Given the description of an element on the screen output the (x, y) to click on. 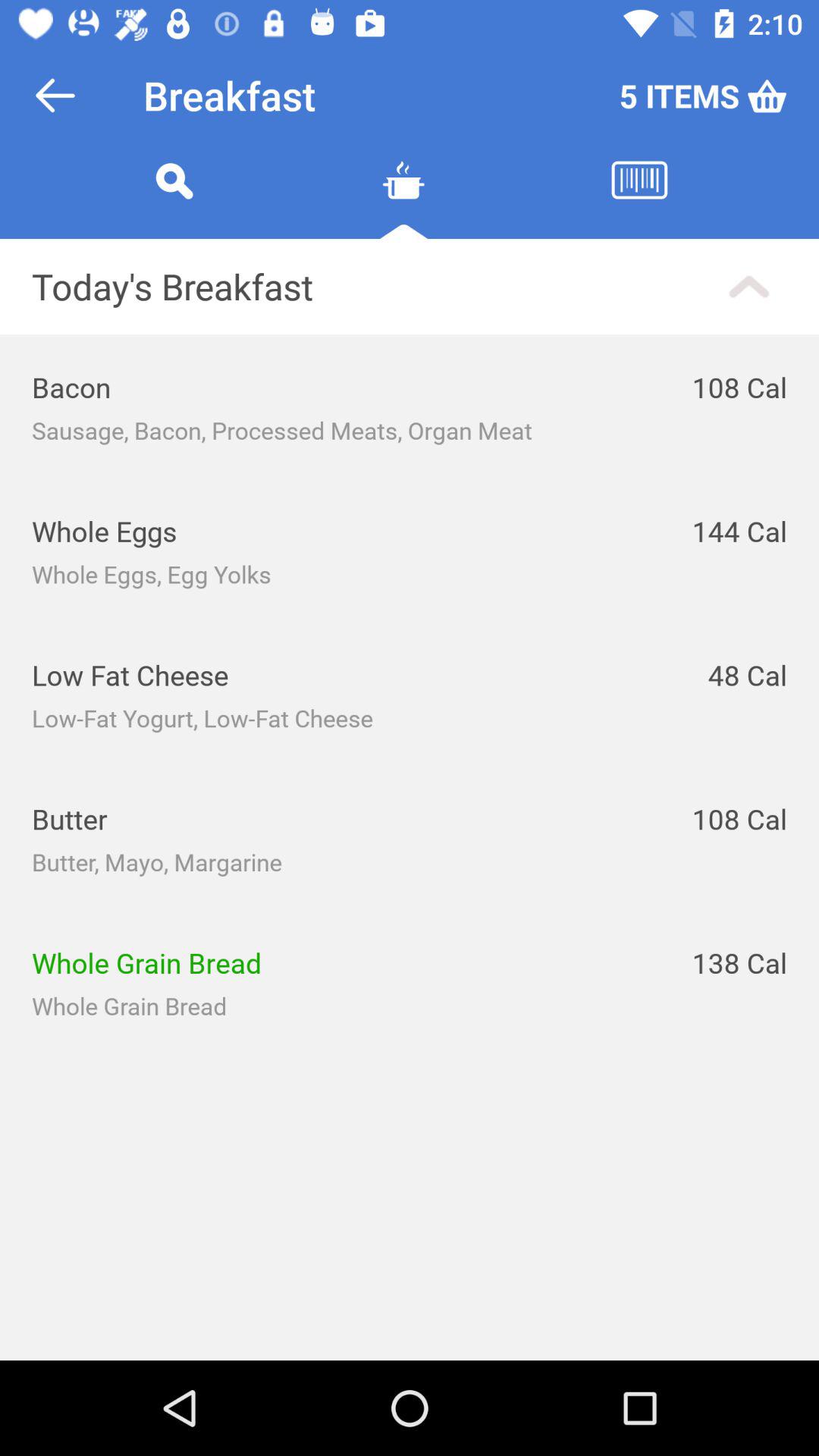
search (173, 198)
